Given the description of an element on the screen output the (x, y) to click on. 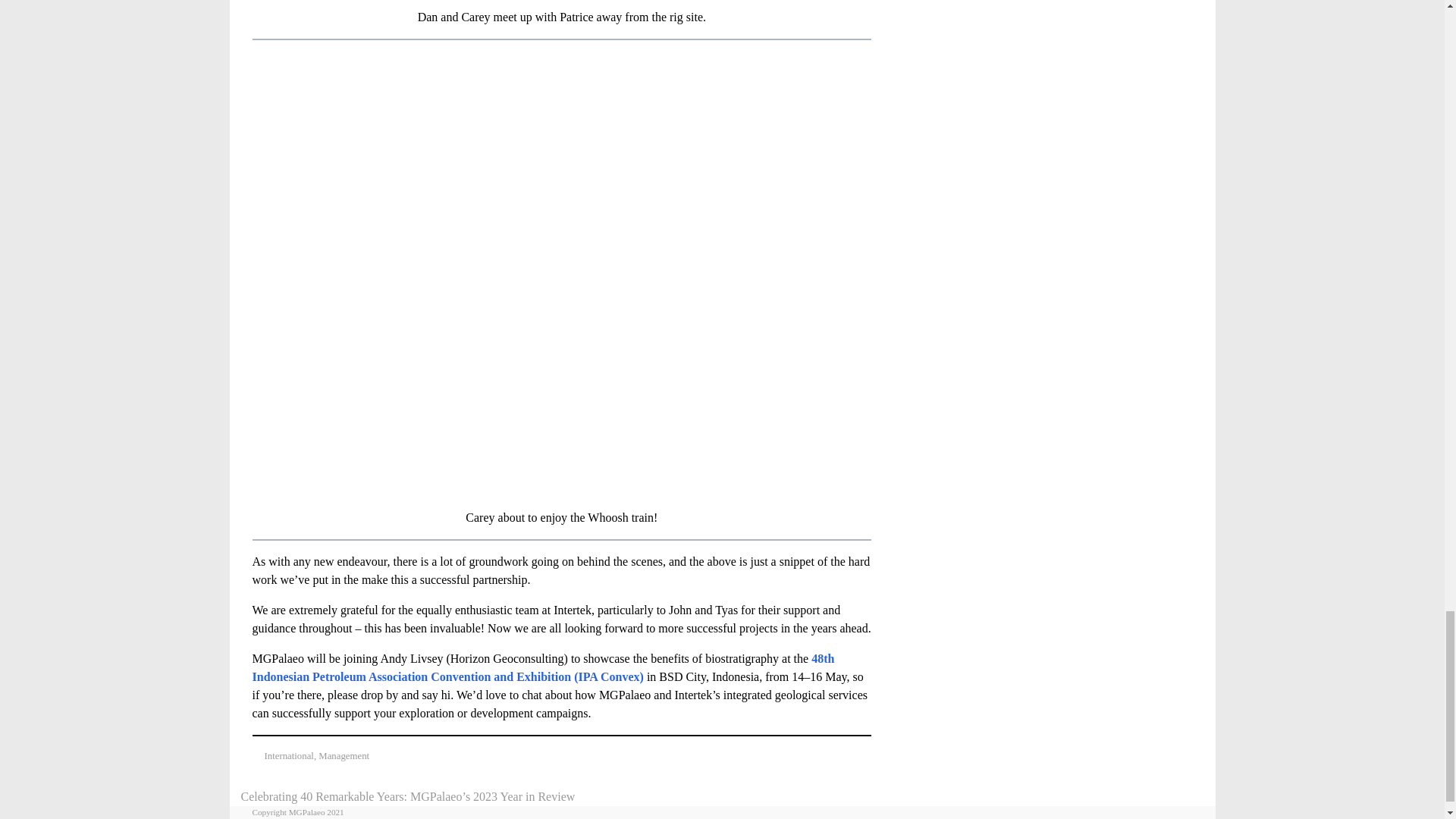
Share by Email (863, 756)
Share on Twitter (819, 756)
More options (876, 756)
Share on Pinterest (848, 756)
Share on Facebook (834, 756)
